Given the description of an element on the screen output the (x, y) to click on. 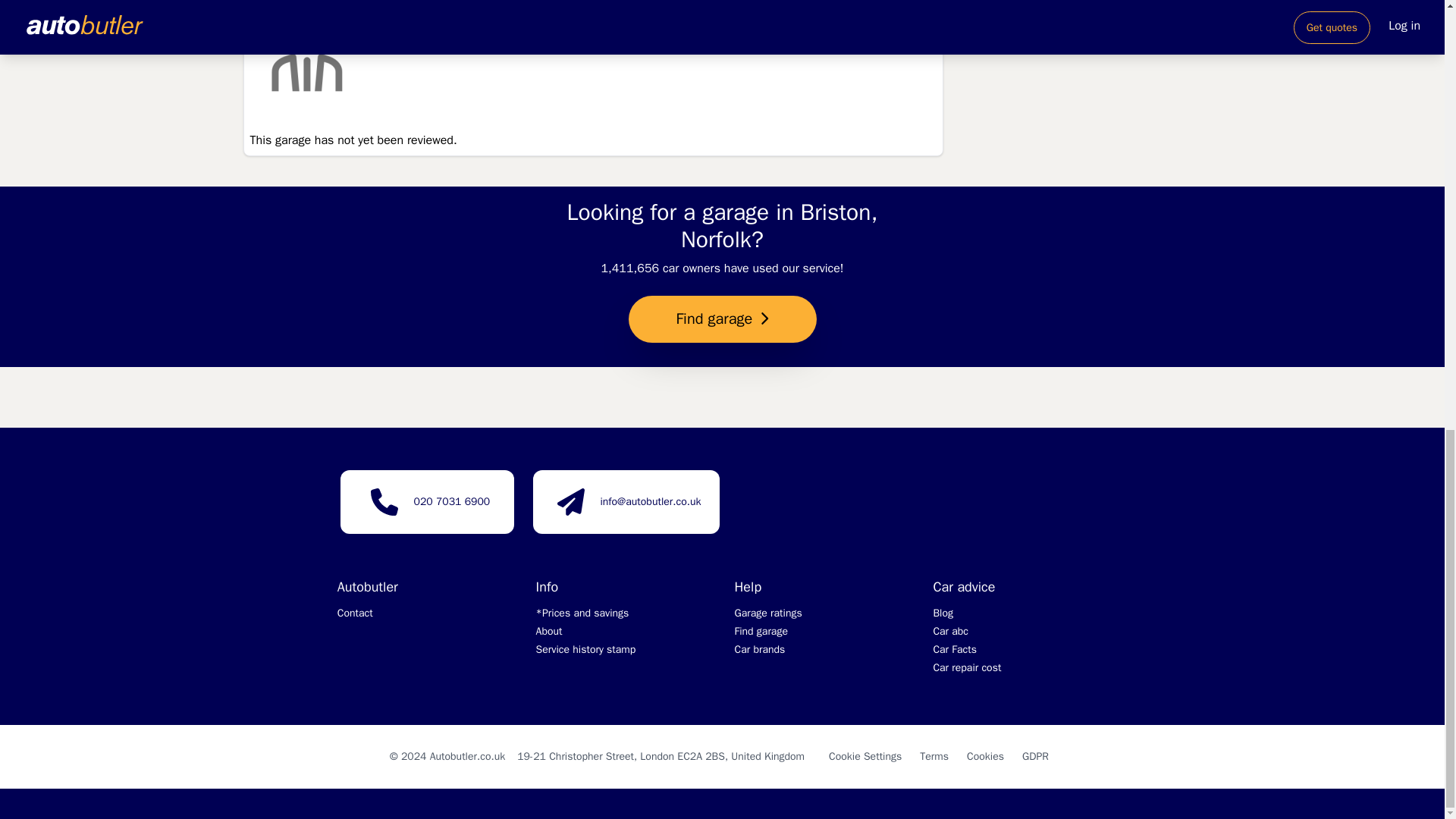
Garage ratings (767, 612)
Car repair cost (967, 667)
Find garage (721, 319)
Blog (943, 612)
Find garage (760, 631)
Car abc (950, 631)
Service history stamp (585, 649)
Cookie Settings (864, 756)
GDPR (1035, 756)
Cookies (985, 756)
